Given the description of an element on the screen output the (x, y) to click on. 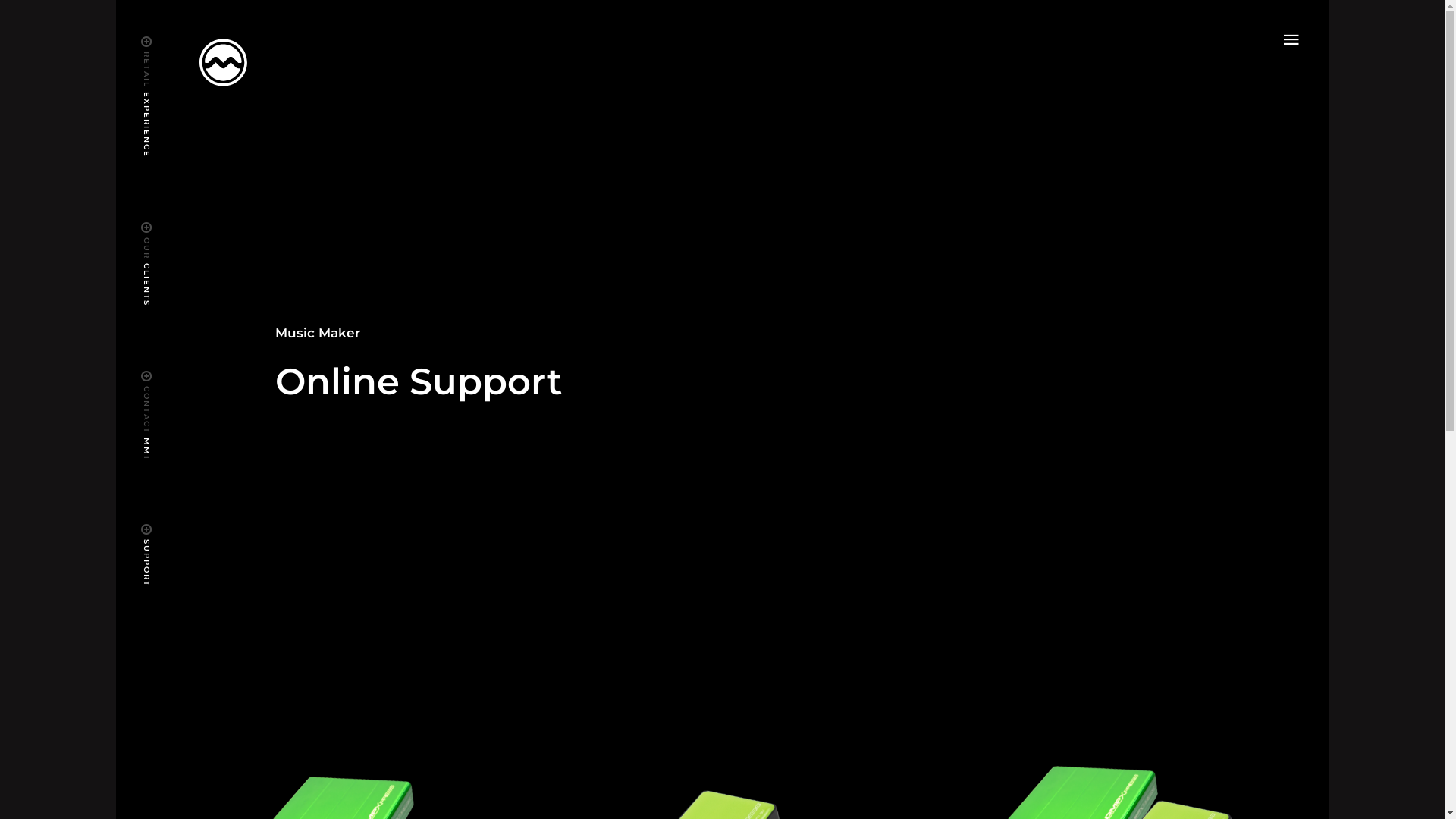
RETAIL EXPERIENCE Element type: text (195, 50)
OUR CLIENTS Element type: text (177, 236)
Musicmaker International Element type: text (222, 60)
SUPPORT Element type: text (166, 538)
Toggle panel Element type: text (1290, 39)
CONTACT MMI Element type: text (179, 384)
